Given the description of an element on the screen output the (x, y) to click on. 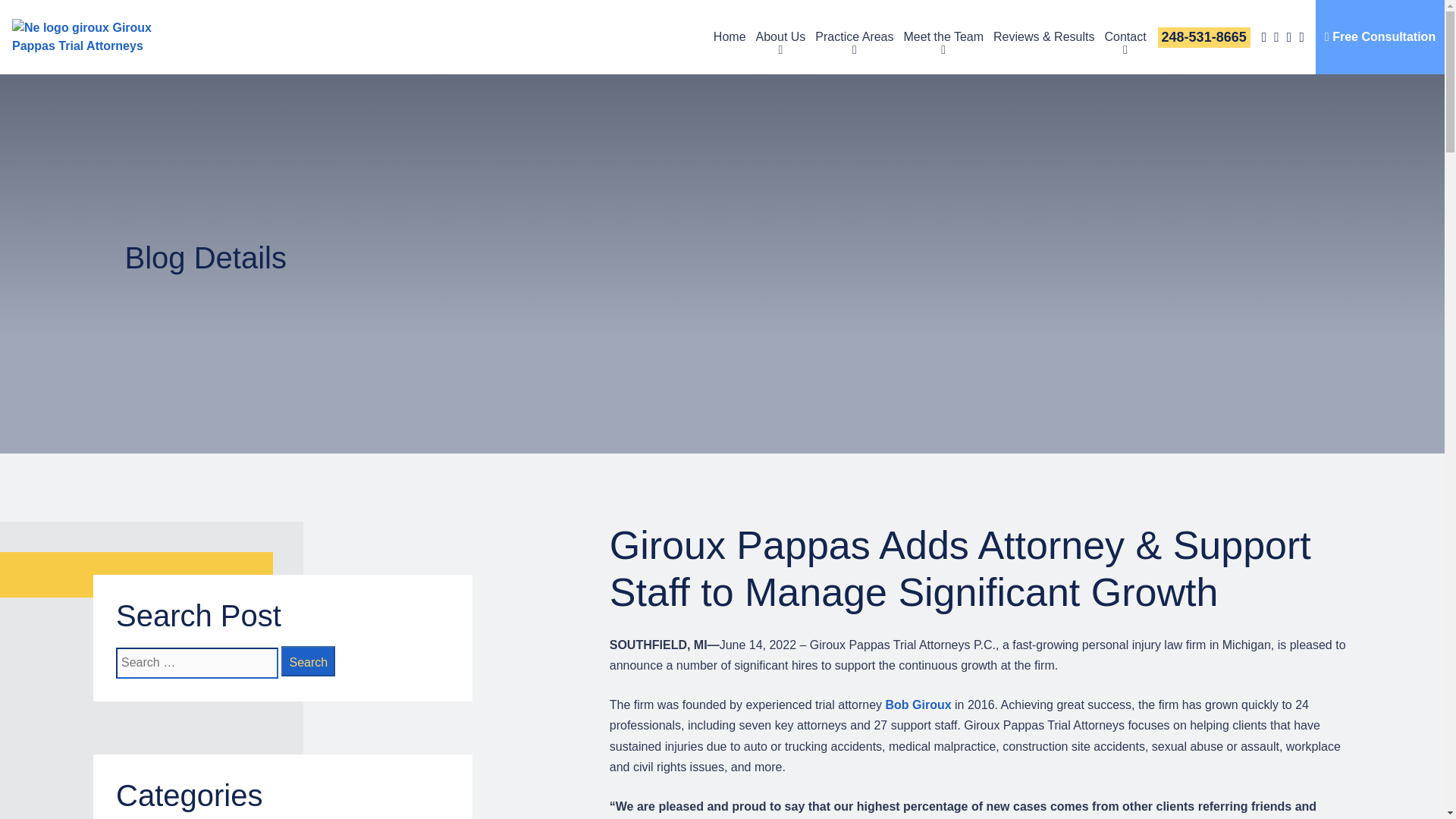
Practice Areas (854, 36)
Search (307, 661)
Meet the Team (944, 36)
Search (307, 661)
Ne logo giroux giroux pappas trial attorneys (100, 36)
248-531-8665 (1203, 37)
